Given the description of an element on the screen output the (x, y) to click on. 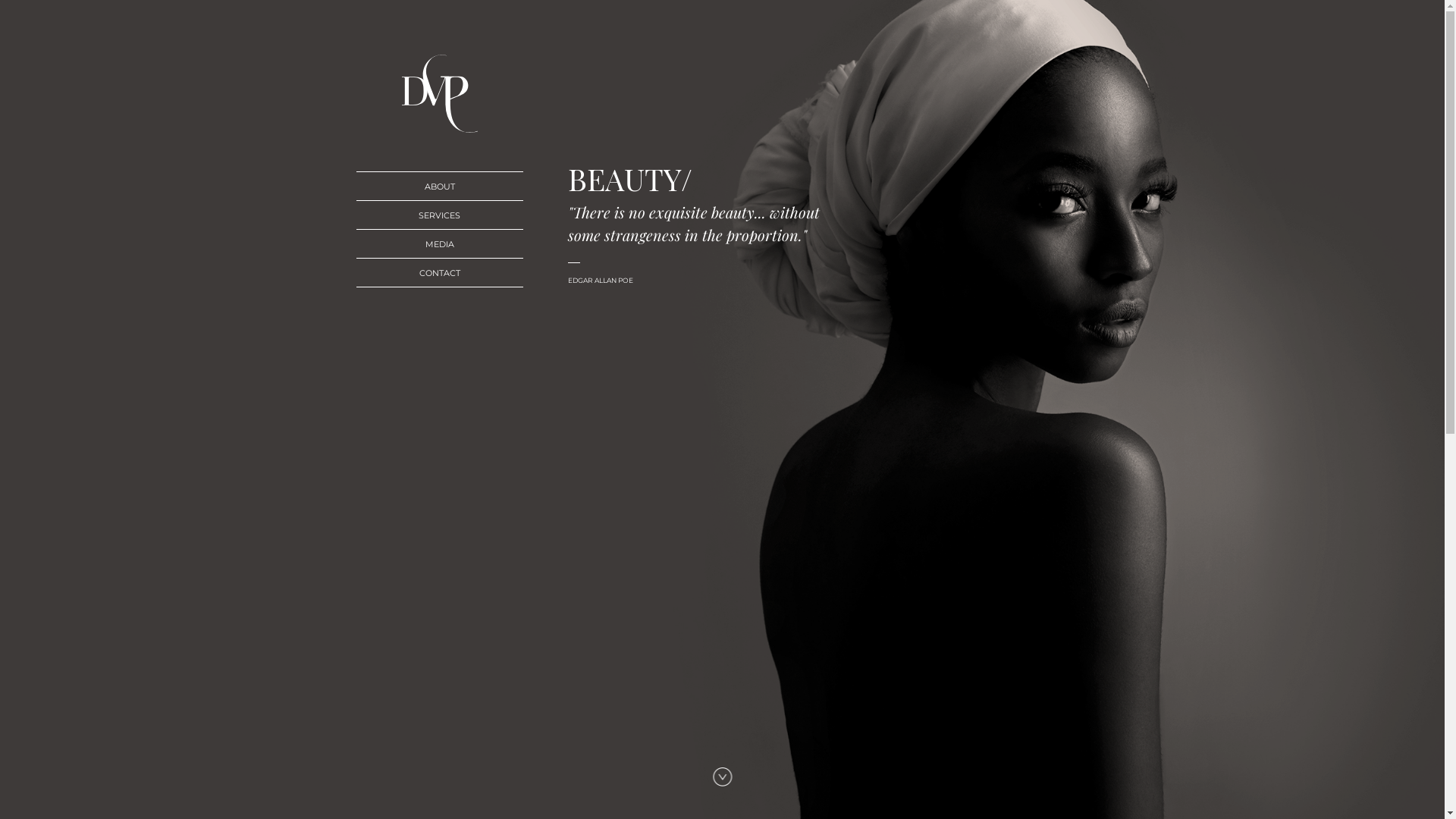
SERVICES Element type: text (439, 214)
CONTACT Element type: text (439, 272)
ABOUT Element type: text (439, 186)
MEDIA Element type: text (439, 243)
